Given the description of an element on the screen output the (x, y) to click on. 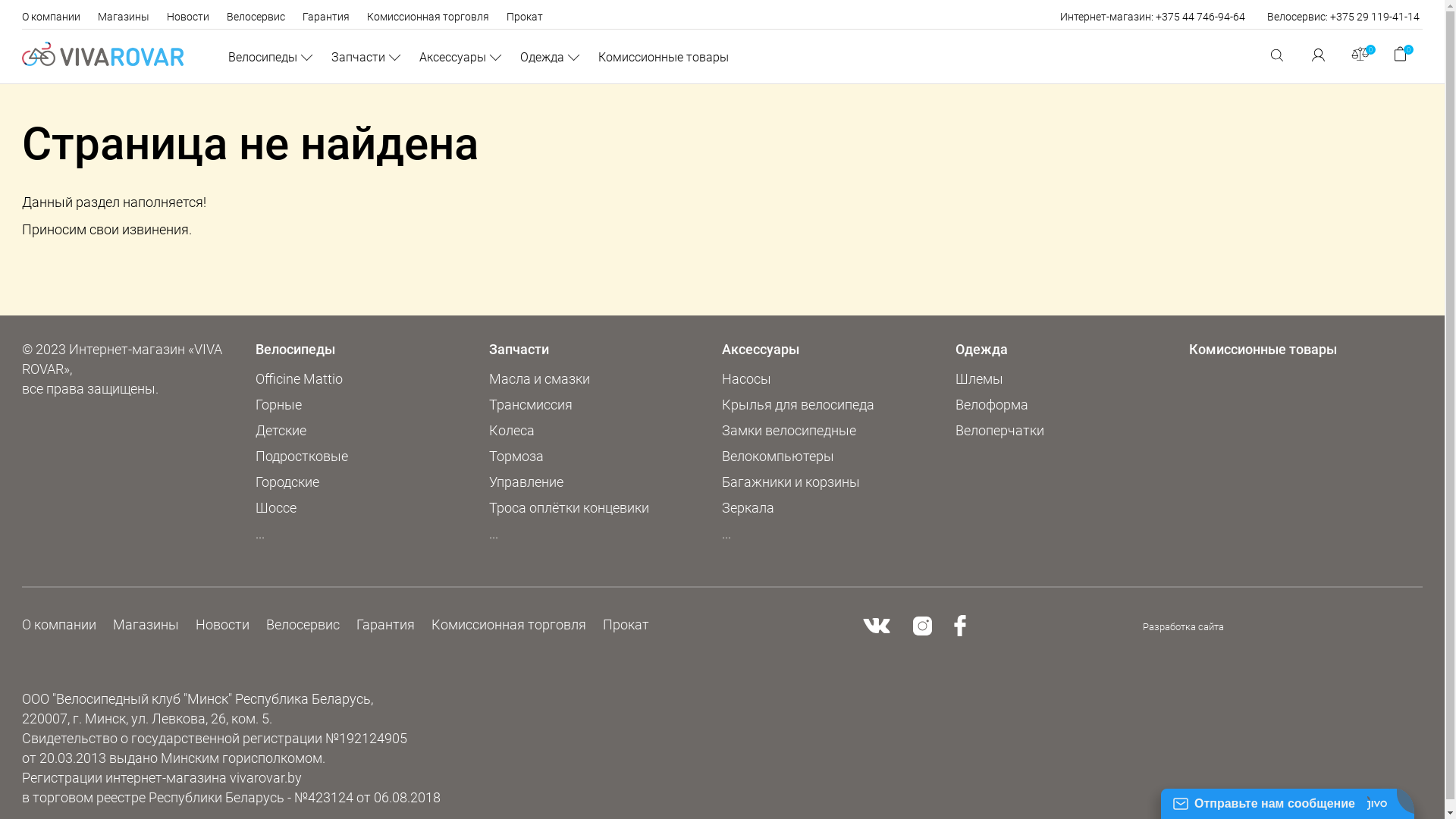
... Element type: text (726, 533)
Vivarovar Element type: hover (102, 53)
... Element type: text (259, 533)
Officine Mattio Element type: text (298, 378)
+375 44 746-94-64 Element type: text (1200, 16)
+375 29 119-41-14 Element type: text (1374, 16)
... Element type: text (493, 533)
< Element type: text (959, 625)
0 Element type: text (1401, 54)
